Given the description of an element on the screen output the (x, y) to click on. 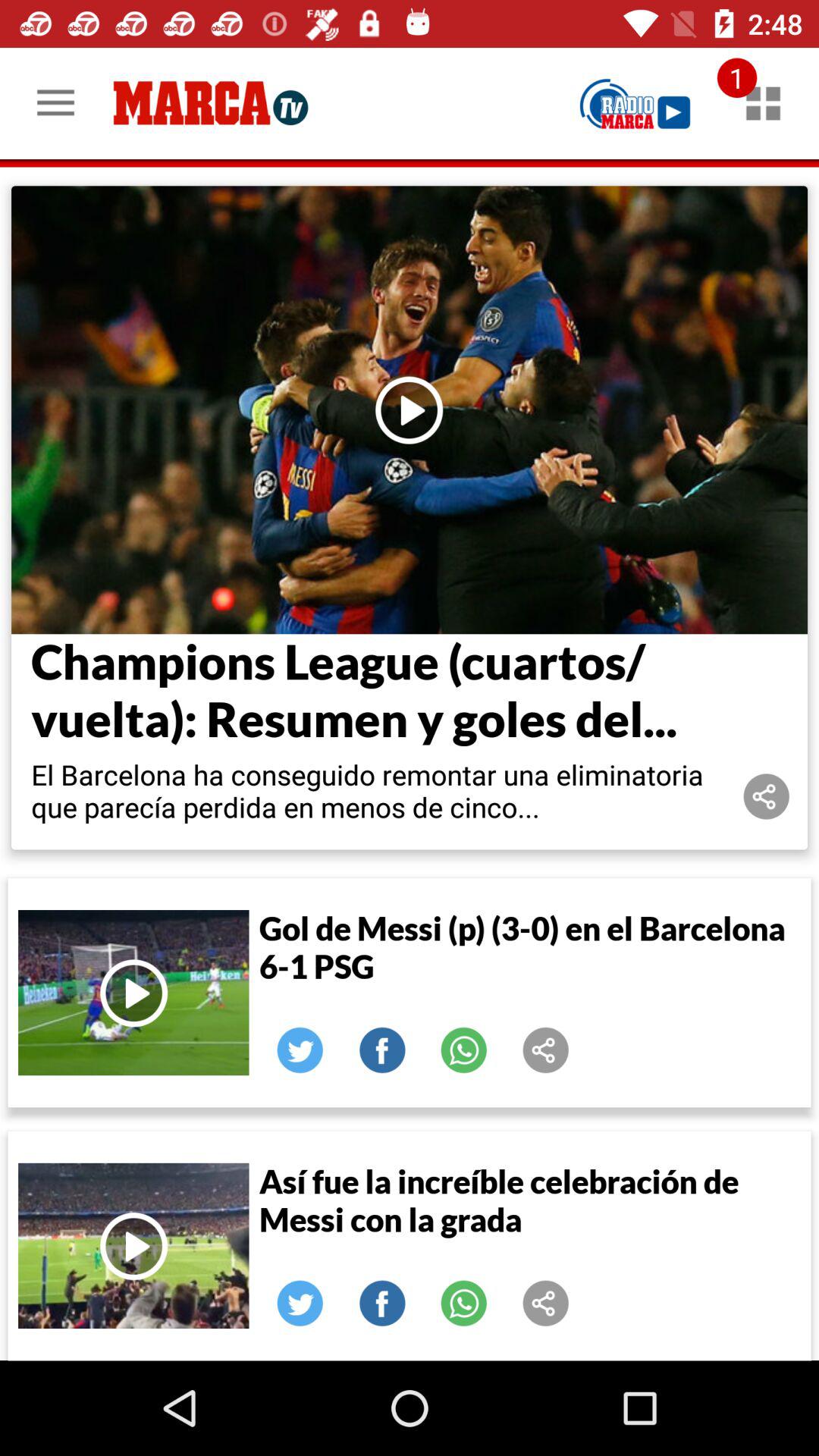
play radio (635, 103)
